Given the description of an element on the screen output the (x, y) to click on. 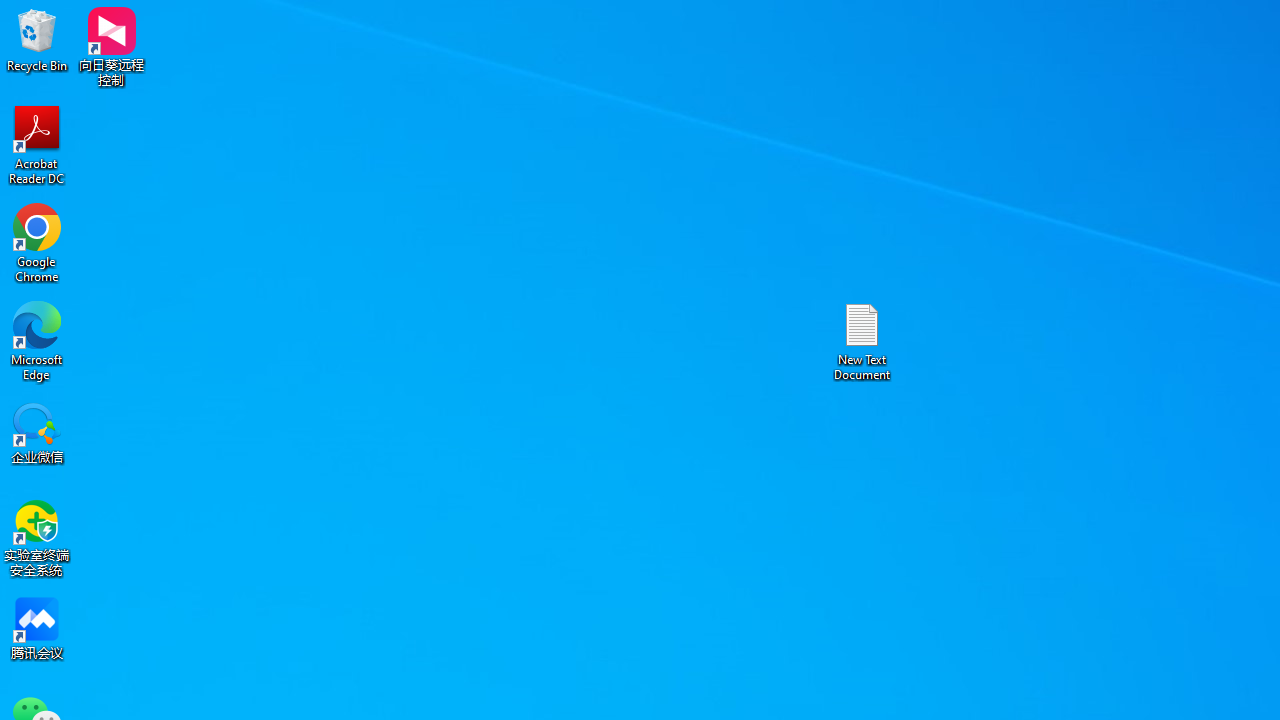
Undo AutoCorrect (164, 15)
